Given the description of an element on the screen output the (x, y) to click on. 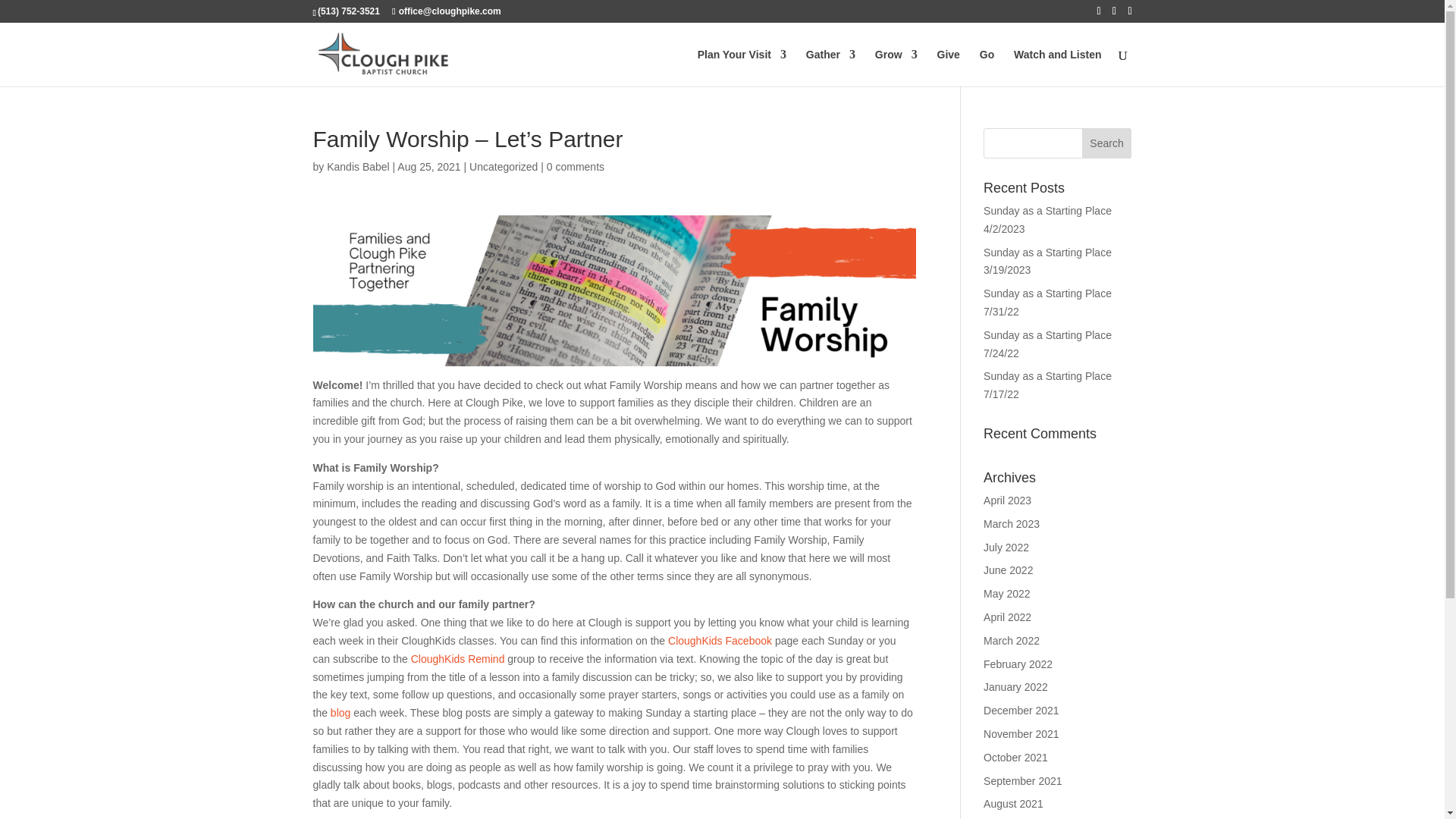
Plan Your Visit (741, 67)
Posts by Kandis Babel (358, 166)
Watch and Listen (1056, 67)
Gather (831, 67)
Grow (896, 67)
Search (1106, 142)
